Given the description of an element on the screen output the (x, y) to click on. 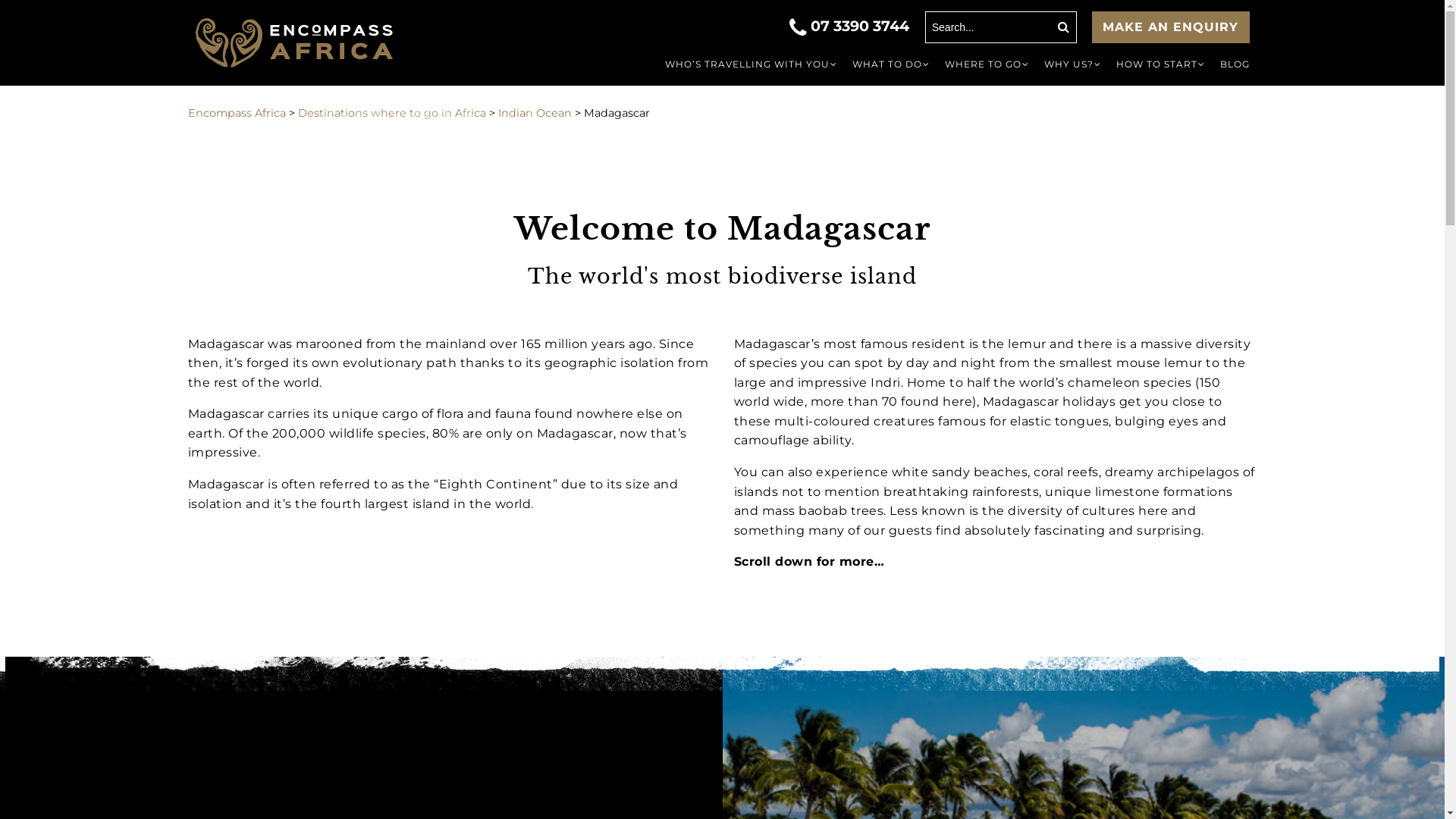
Encompass Africa Element type: text (236, 112)
MAKE AN ENQUIRY Element type: text (1170, 27)
Encompass Africa Element type: hover (307, 44)
WHERE TO GO Element type: text (986, 64)
Destinations where to go in Africa Element type: text (391, 112)
BLOG Element type: text (1233, 64)
I'd like to chat Element type: text (715, 411)
HOW TO START Element type: text (1160, 64)
WHAT TO DO Element type: text (890, 64)
Search for: Element type: hover (1000, 27)
WHY US? Element type: text (1071, 64)
Indian Ocean Element type: text (534, 112)
07 3390 3744 Element type: text (851, 25)
